Given the description of an element on the screen output the (x, y) to click on. 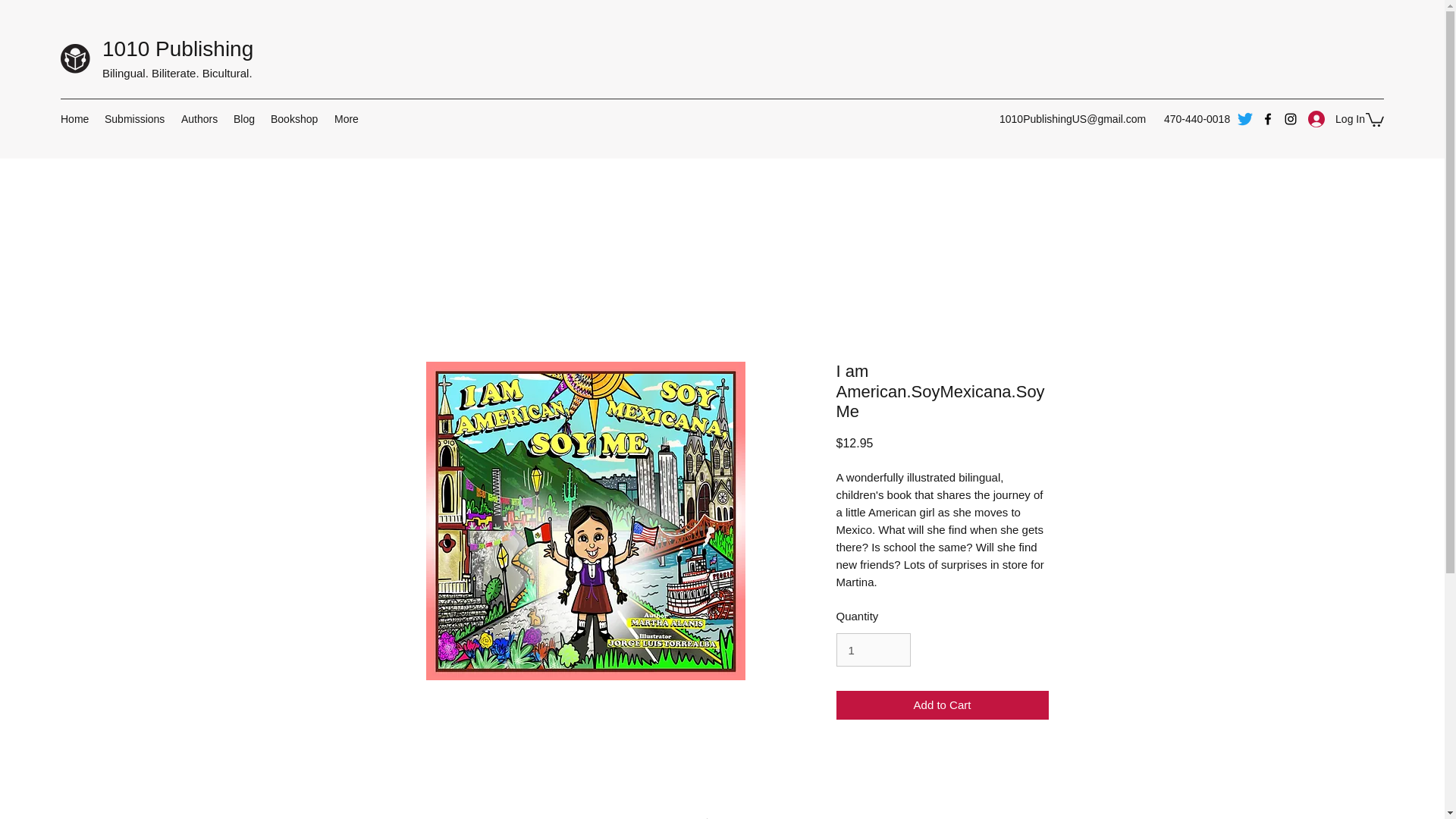
Blog (244, 118)
Log In (1336, 119)
Home (74, 118)
Bookshop (294, 118)
1 (872, 649)
Add to Cart (941, 705)
Authors (199, 118)
Submissions (135, 118)
